Given the description of an element on the screen output the (x, y) to click on. 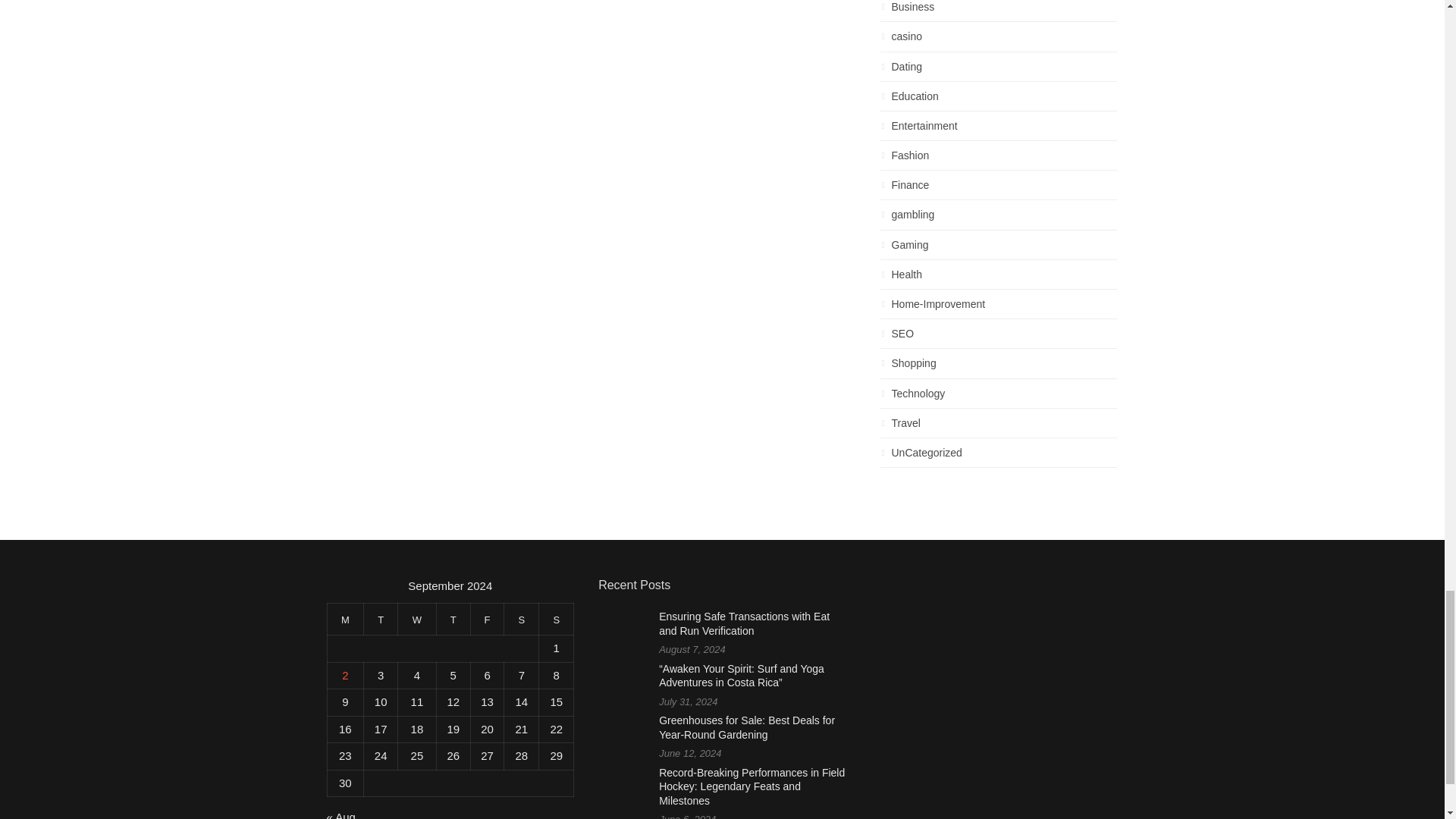
Greenhouses for Sale: Best Deals for Year-Round Gardening (746, 727)
Tuesday (380, 618)
Ensuring Safe Transactions with Eat and Run Verification (744, 623)
Thursday (452, 618)
Monday (345, 618)
Saturday (520, 618)
Sunday (555, 618)
Wednesday (416, 618)
Friday (486, 618)
